Given the description of an element on the screen output the (x, y) to click on. 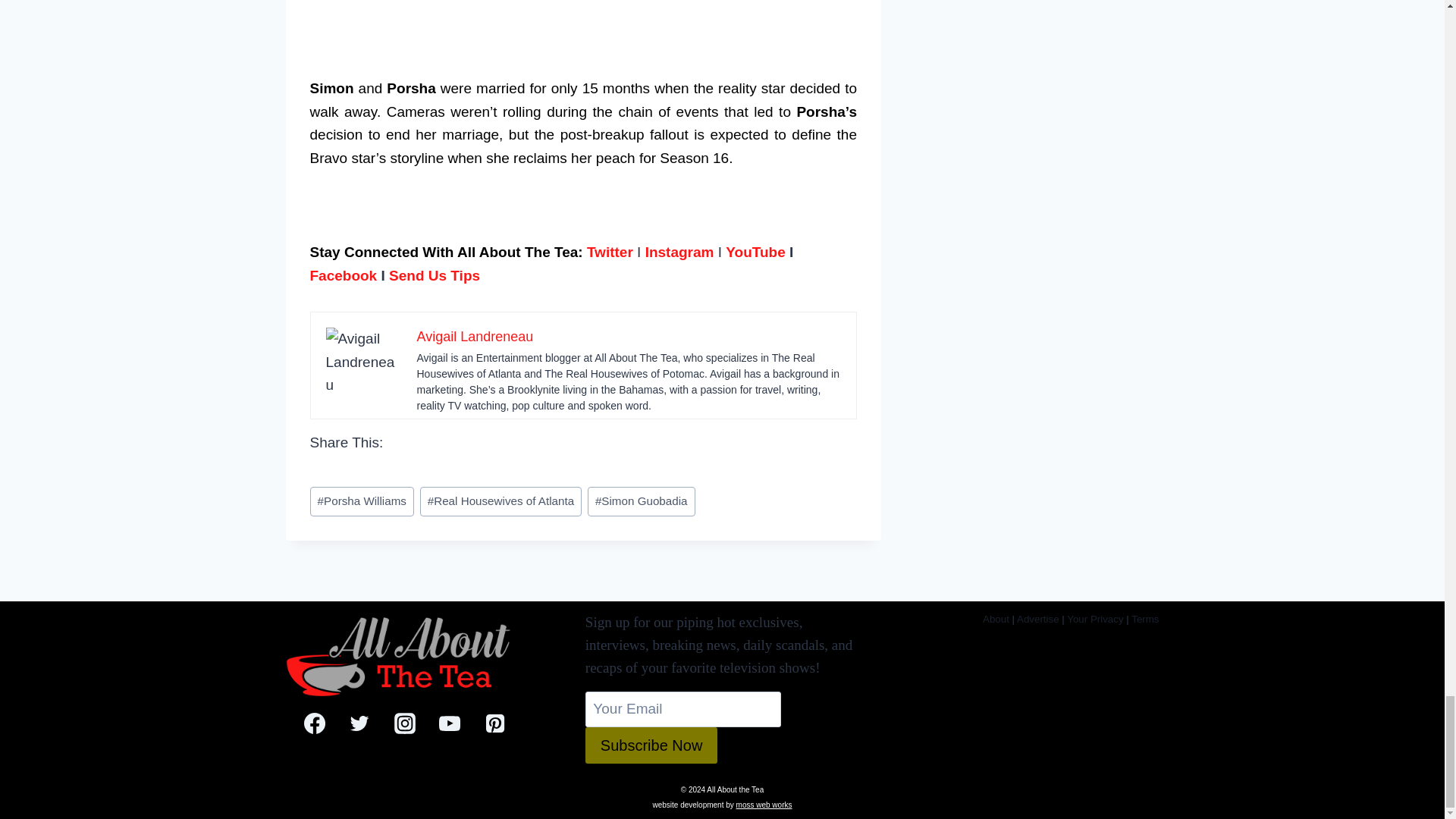
YouTube (754, 252)
Twitter (609, 252)
Instagram (679, 252)
Send Us Tips (434, 275)
Facebook (342, 275)
